Given the description of an element on the screen output the (x, y) to click on. 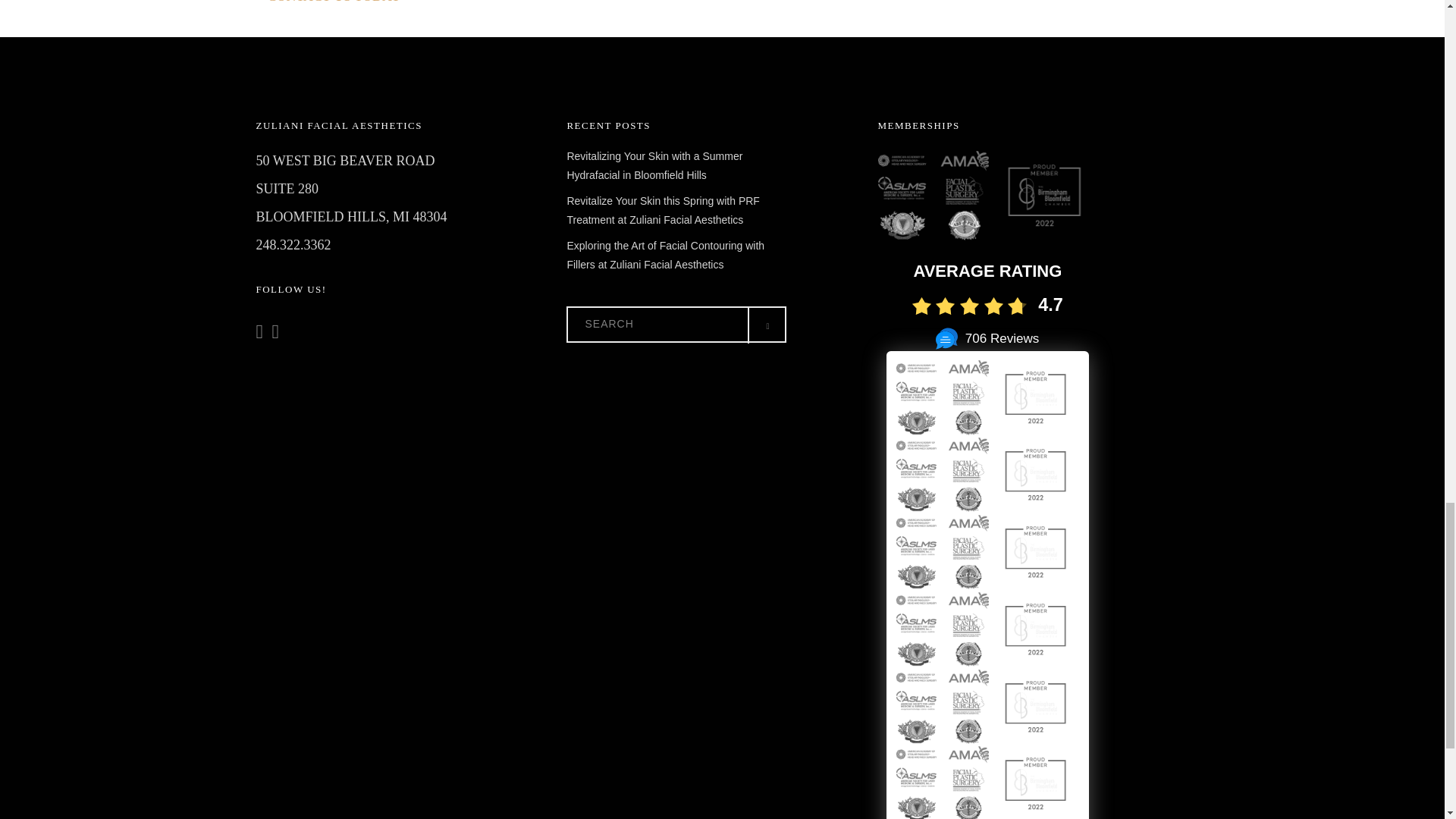
Submit (1270, 373)
